Given the description of an element on the screen output the (x, y) to click on. 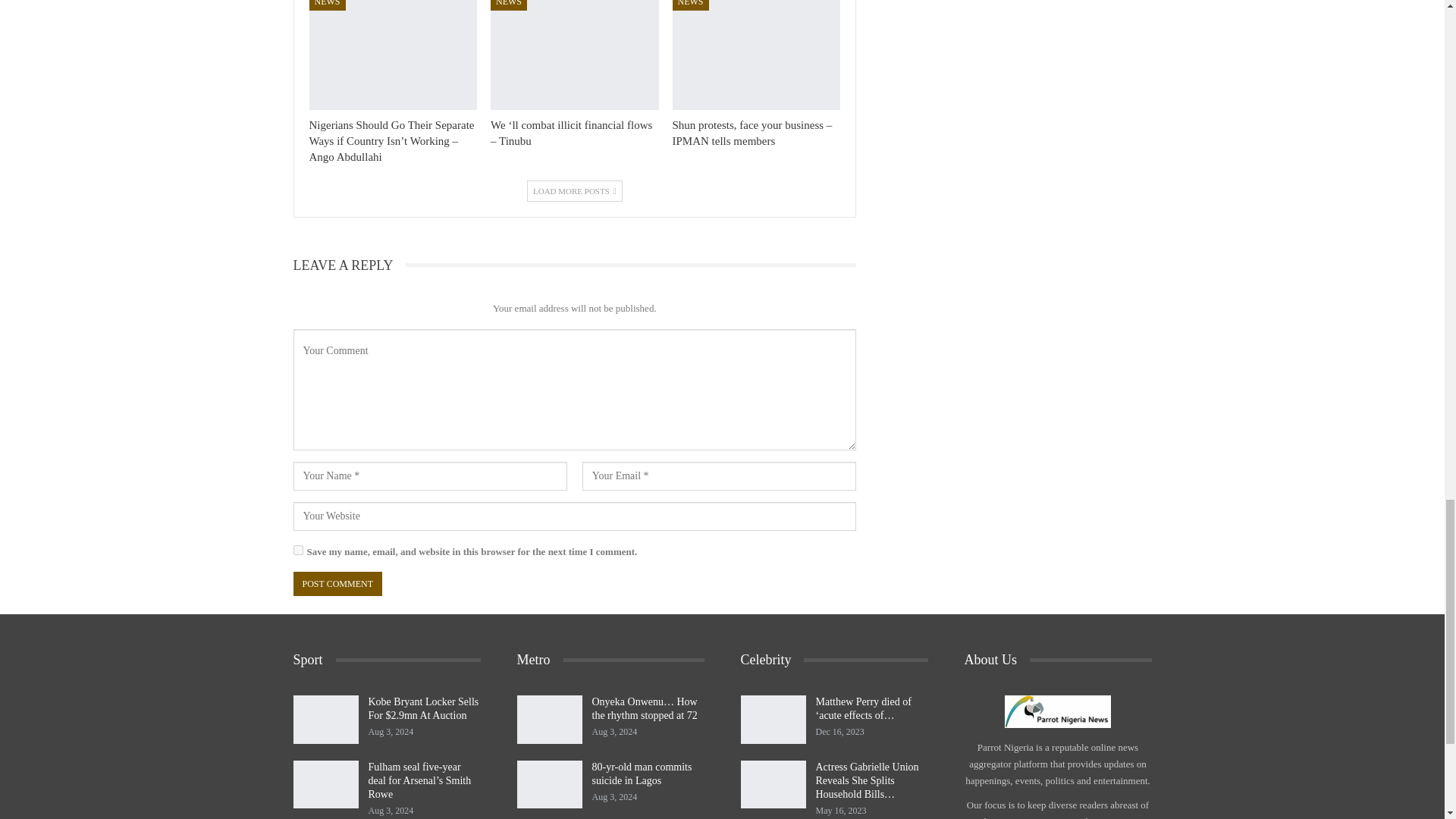
yes (297, 550)
Post Comment (336, 584)
